Given the description of an element on the screen output the (x, y) to click on. 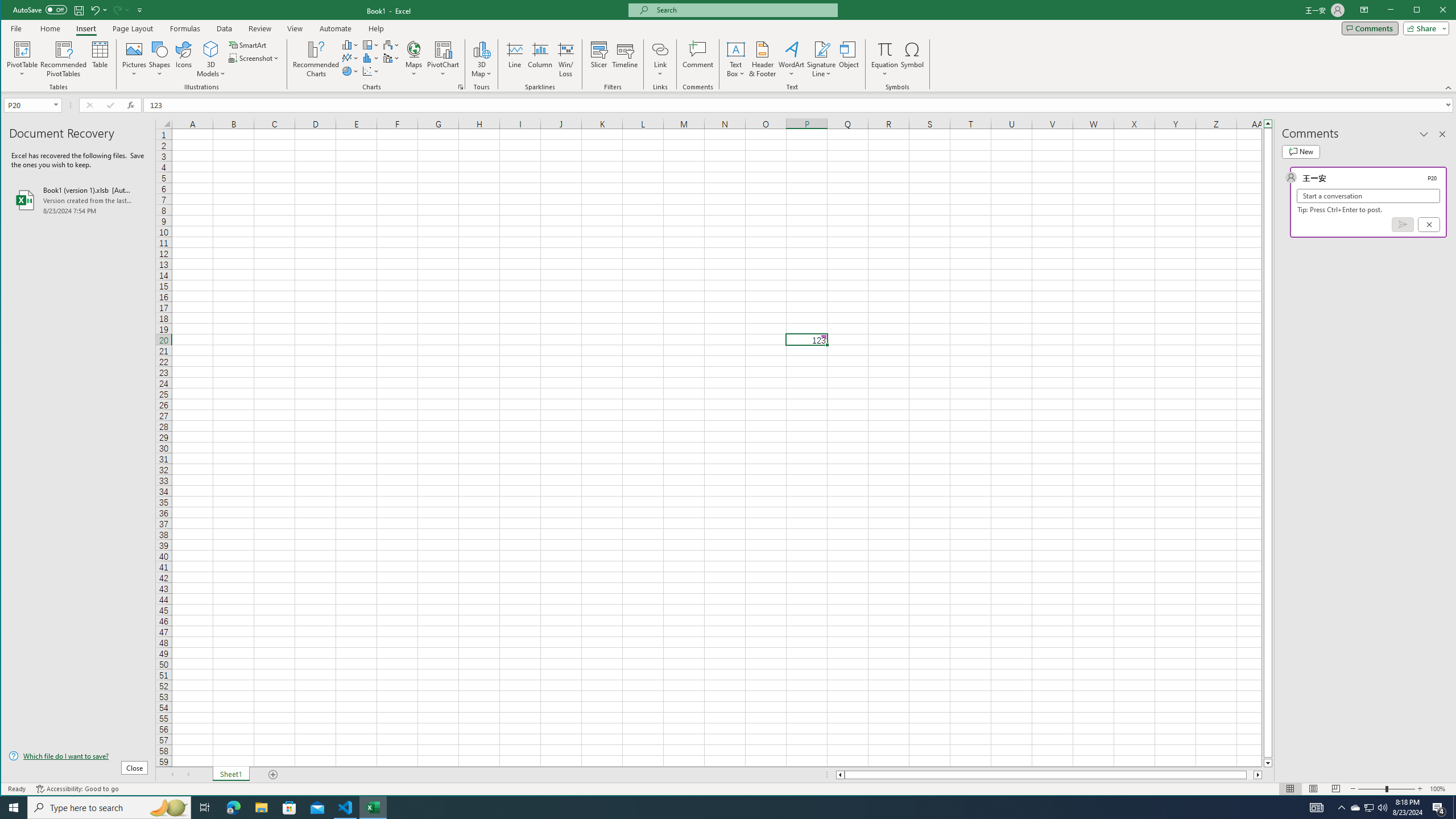
Insert Scatter (X, Y) or Bubble Chart (371, 70)
Post comment (Ctrl + Enter) (1402, 224)
Shapes (159, 59)
3D Models (211, 48)
Screenshot (254, 57)
File Explorer (261, 807)
Signature Line (821, 59)
